Given the description of an element on the screen output the (x, y) to click on. 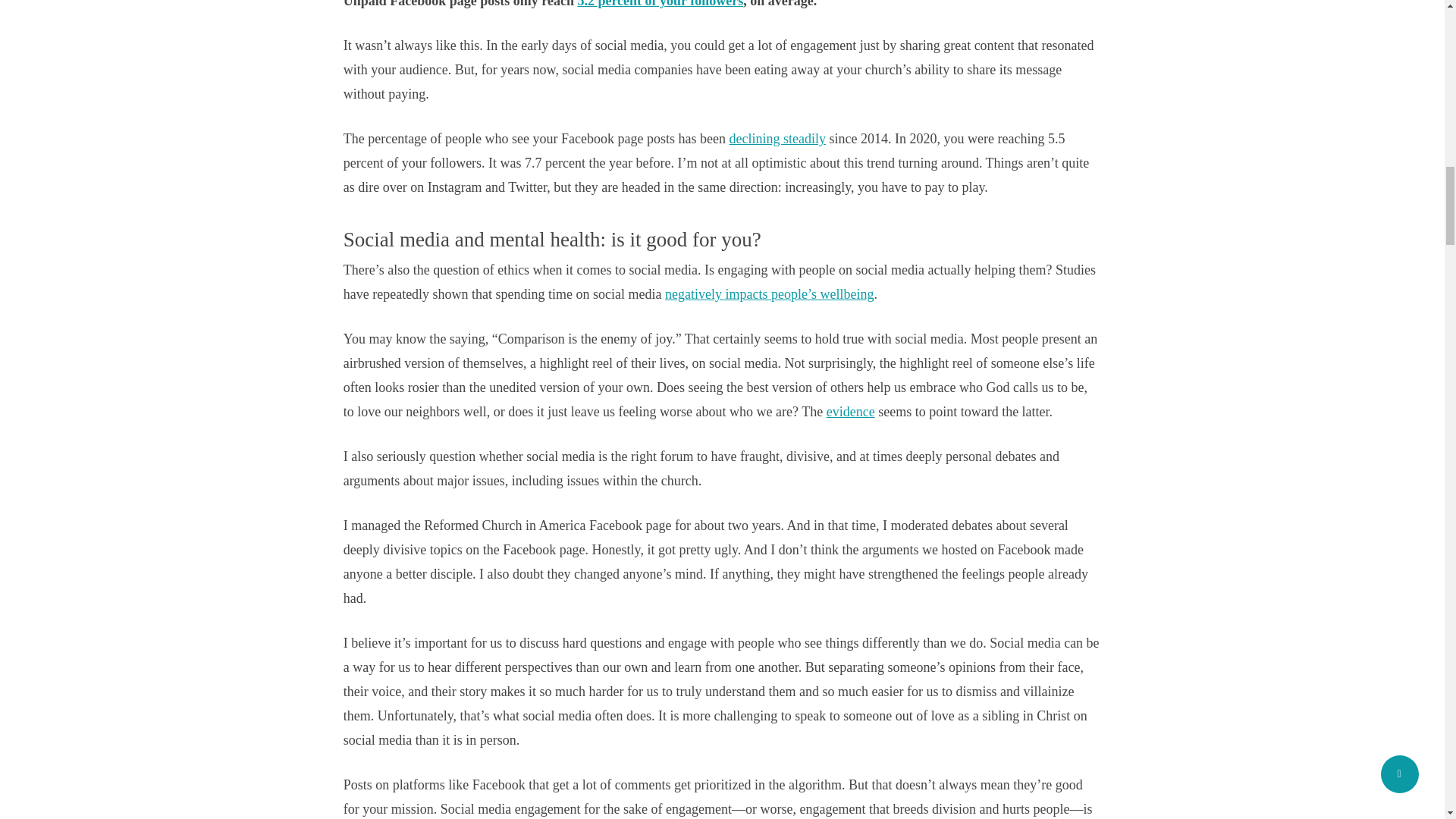
evidence (851, 411)
5.2 percent of your followers (659, 4)
declining steadily (777, 138)
